Given the description of an element on the screen output the (x, y) to click on. 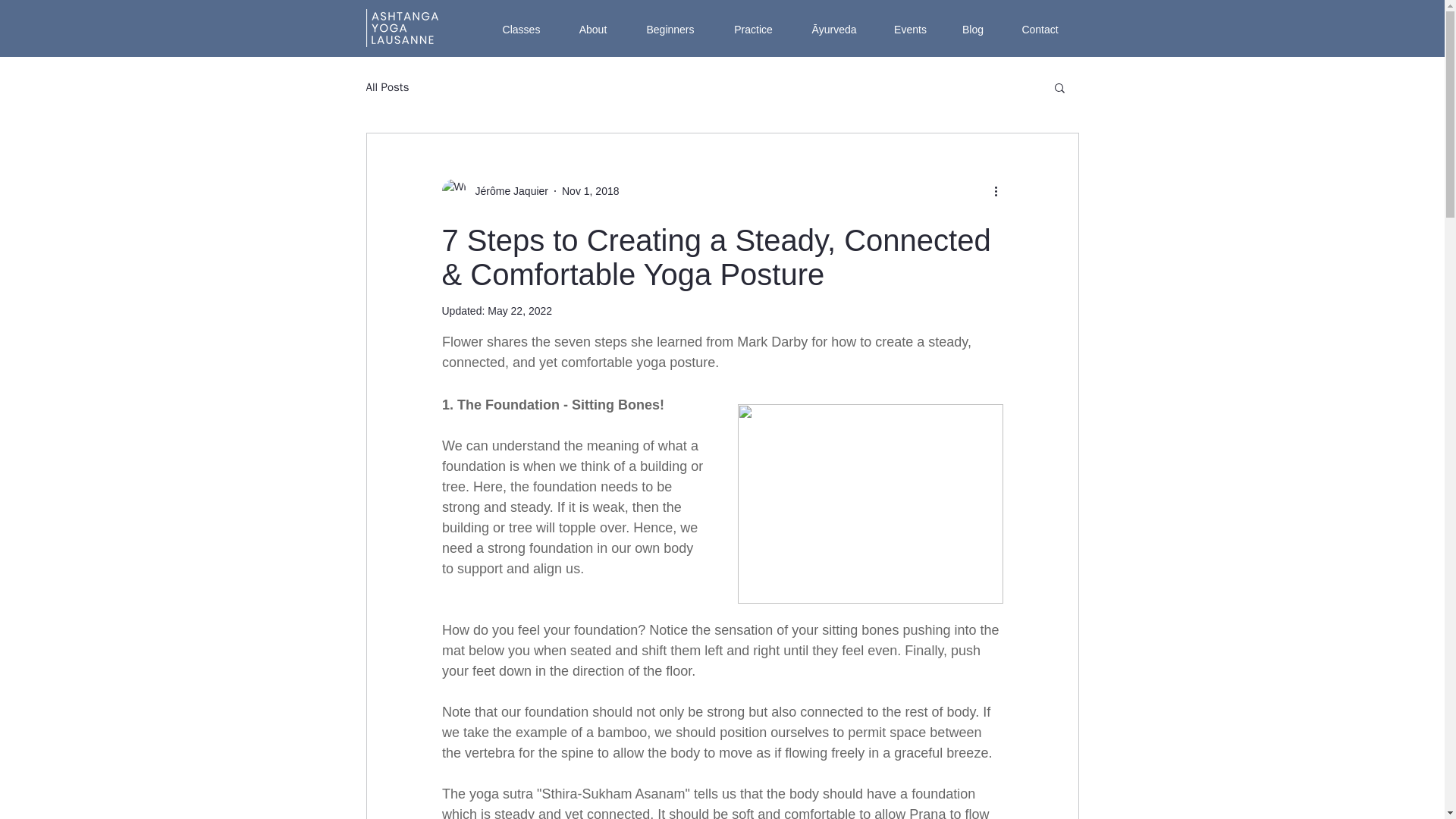
All Posts (387, 87)
Beginners (670, 29)
Events (910, 29)
Blog (972, 29)
May 22, 2022 (519, 310)
Nov 1, 2018 (591, 191)
Contact (1039, 29)
